Given the description of an element on the screen output the (x, y) to click on. 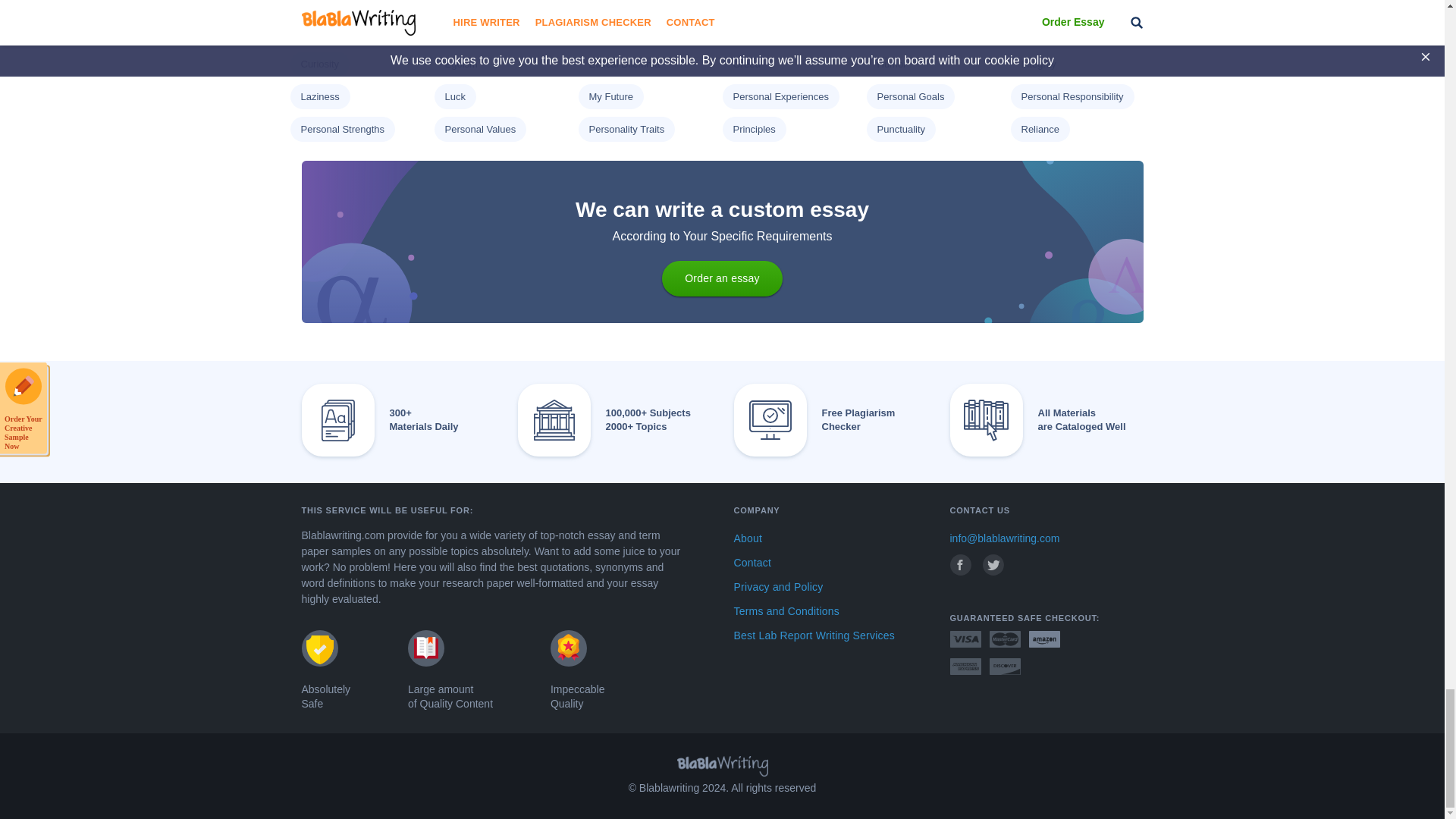
Nature Vs Nurture (339, 2)
